Given the description of an element on the screen output the (x, y) to click on. 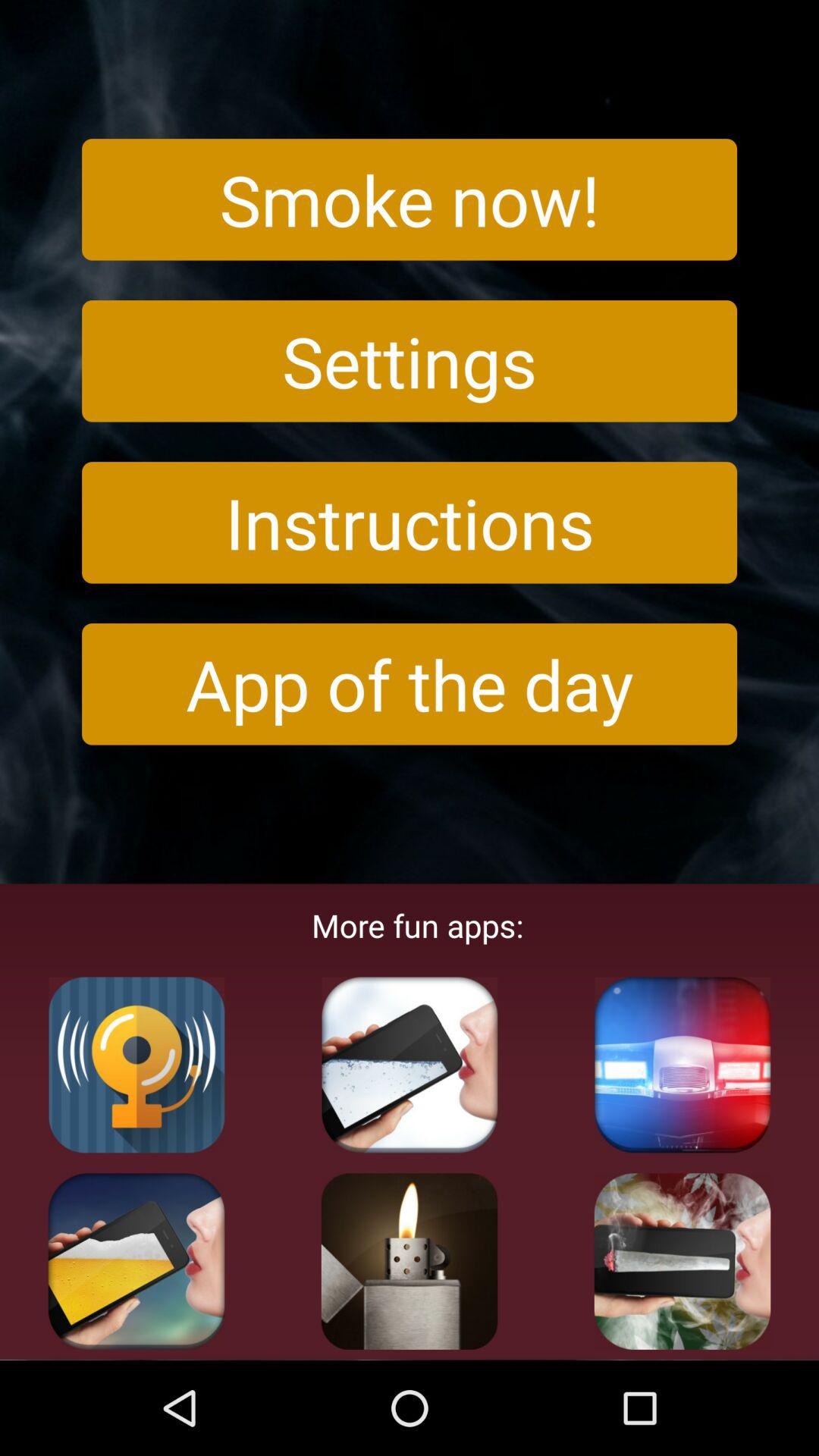
app to download (409, 1064)
